Given the description of an element on the screen output the (x, y) to click on. 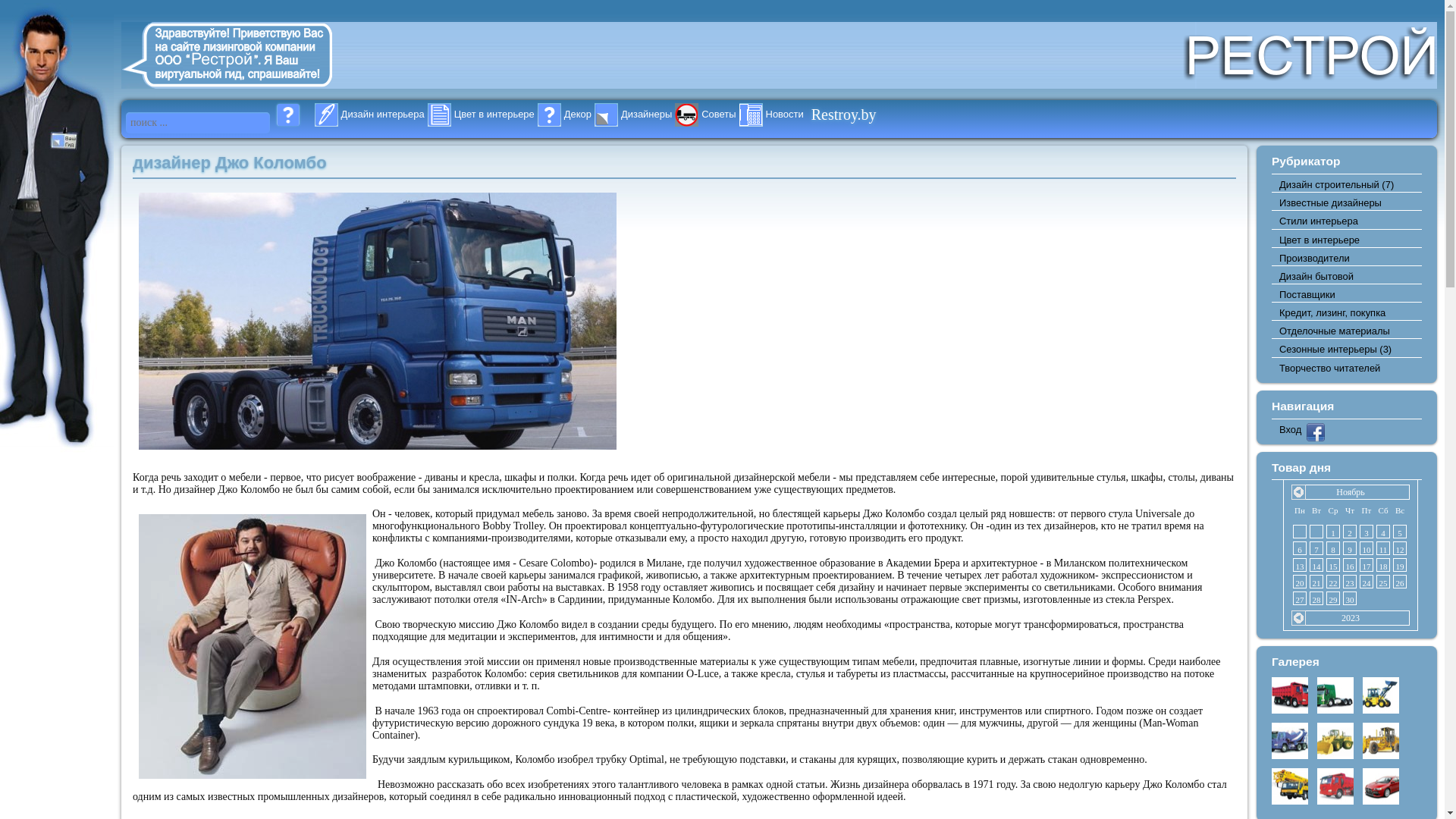
Restroy.by Element type: text (875, 110)
Facebook Element type: hover (1315, 437)
